Given the description of an element on the screen output the (x, y) to click on. 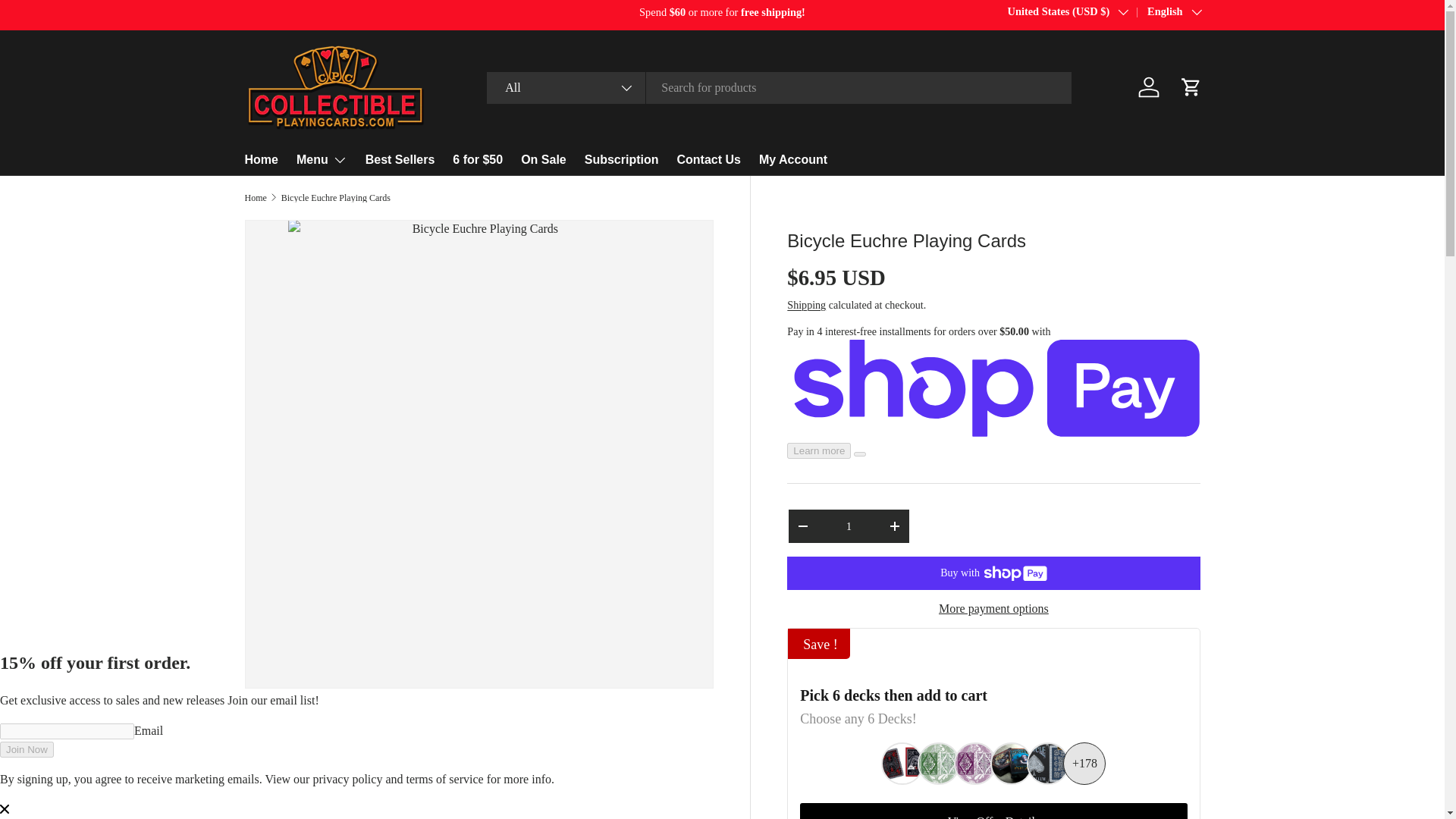
My Account (792, 159)
Subscription (622, 159)
Best Sellers (400, 159)
Bicycle Euchre Playing Cards (335, 197)
Log in (1147, 87)
On Sale (543, 159)
Contact Us (709, 159)
Cart (1190, 87)
More payment options (993, 608)
Menu (322, 159)
View Offer Details (992, 811)
1 (847, 526)
- (802, 525)
English (1162, 12)
Home (261, 159)
